Given the description of an element on the screen output the (x, y) to click on. 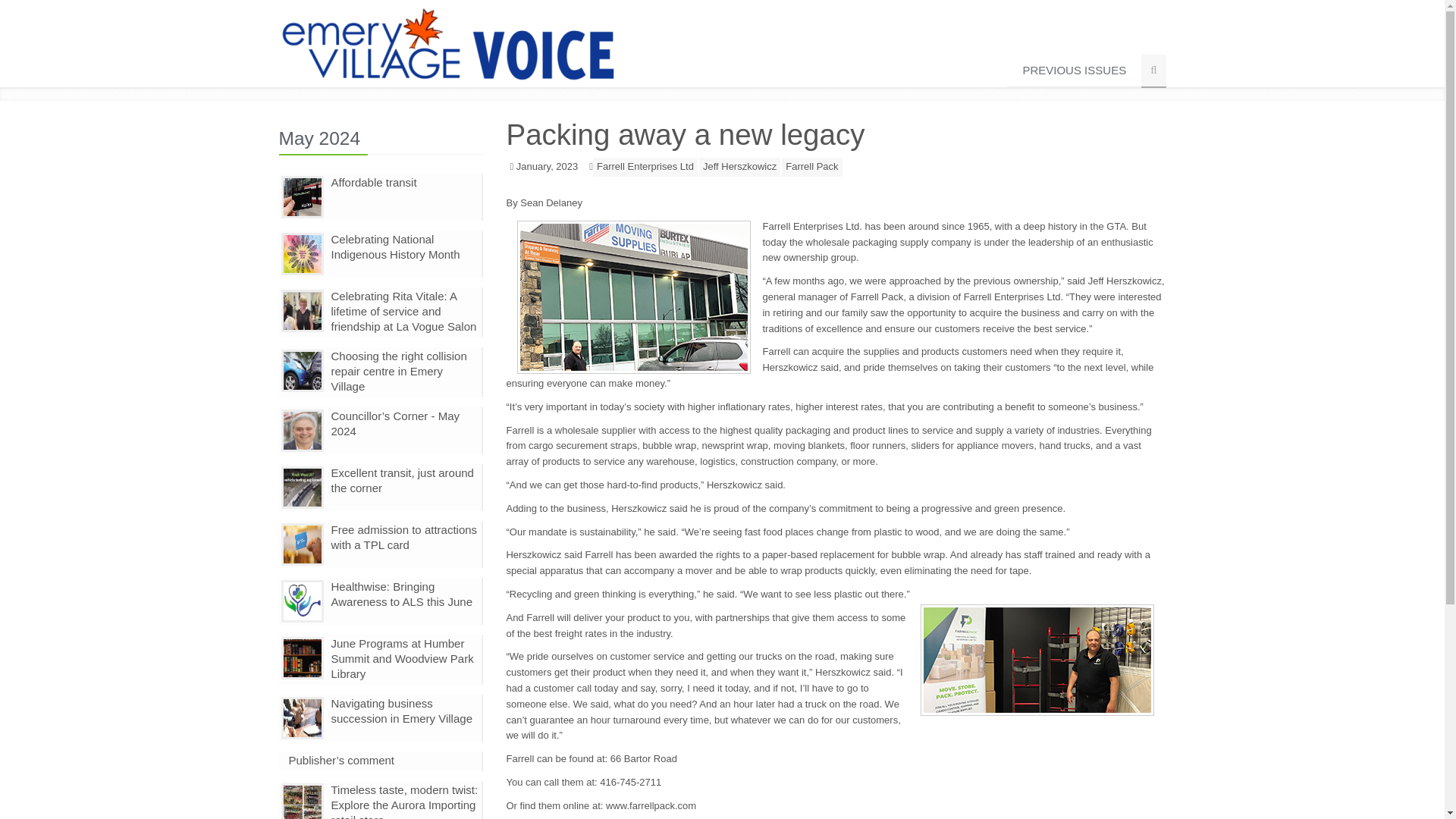
www.farrellpack.com (650, 805)
Choosing the right collision repair centre in Emery Village (397, 371)
Excellent transit, just around the corner (401, 480)
Healthwise: Bringing Awareness to ALS this June (400, 593)
Navigating business succession in Emery Village (400, 710)
Affordable transit (373, 182)
PREVIOUS ISSUES (1074, 70)
Farrell Pack (811, 167)
Celebrating National Indigenous History Month (395, 246)
Farrell Enterprises Ltd (644, 167)
June Programs at Humber Summit and Woodview Park Library (401, 658)
Free admission to attractions with a TPL card (403, 537)
Jeff Herszkowicz (739, 167)
